Given the description of an element on the screen output the (x, y) to click on. 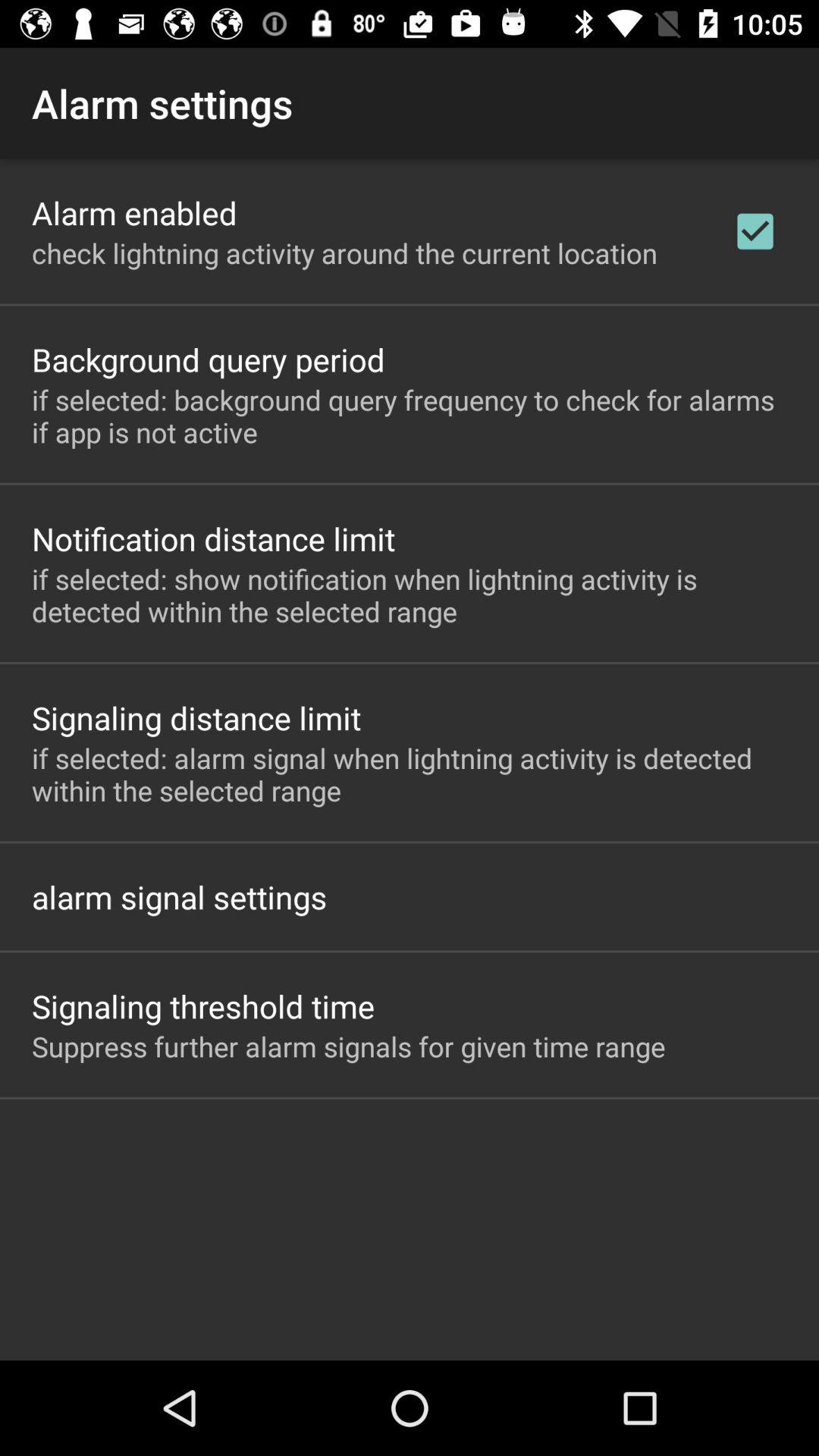
open alarm enabled (134, 212)
